Given the description of an element on the screen output the (x, y) to click on. 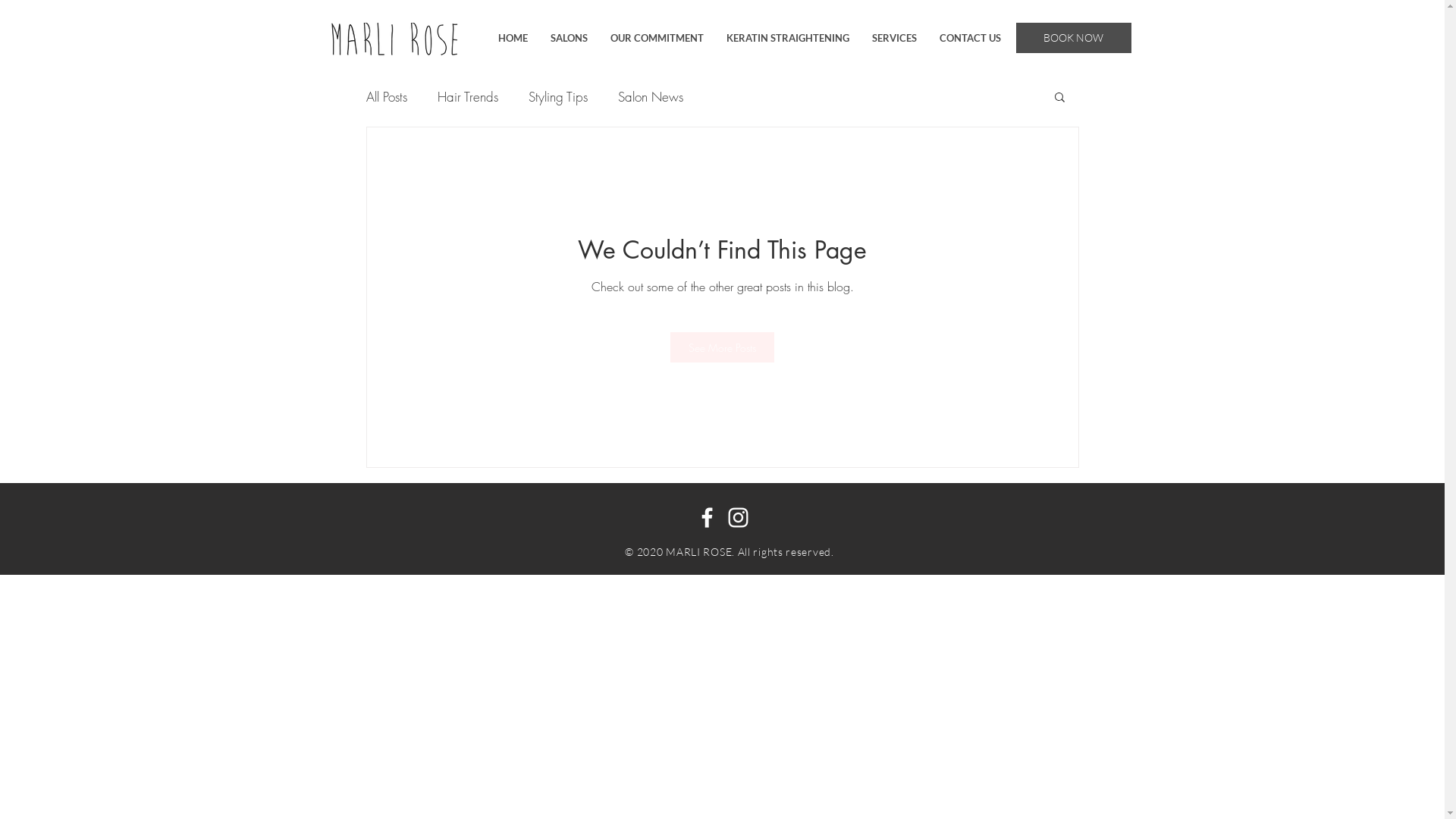
SALONS Element type: text (568, 37)
Styling Tips Element type: text (556, 96)
HOME Element type: text (512, 37)
See More Posts Element type: text (722, 347)
OUR COMMITMENT Element type: text (657, 37)
CONTACT US Element type: text (970, 37)
All Posts Element type: text (385, 96)
KERATIN STRAIGHTENING Element type: text (786, 37)
Hair Trends Element type: text (466, 96)
BOOK NOW Element type: text (1073, 37)
SERVICES Element type: text (893, 37)
Salon News Element type: text (649, 96)
